Given the description of an element on the screen output the (x, y) to click on. 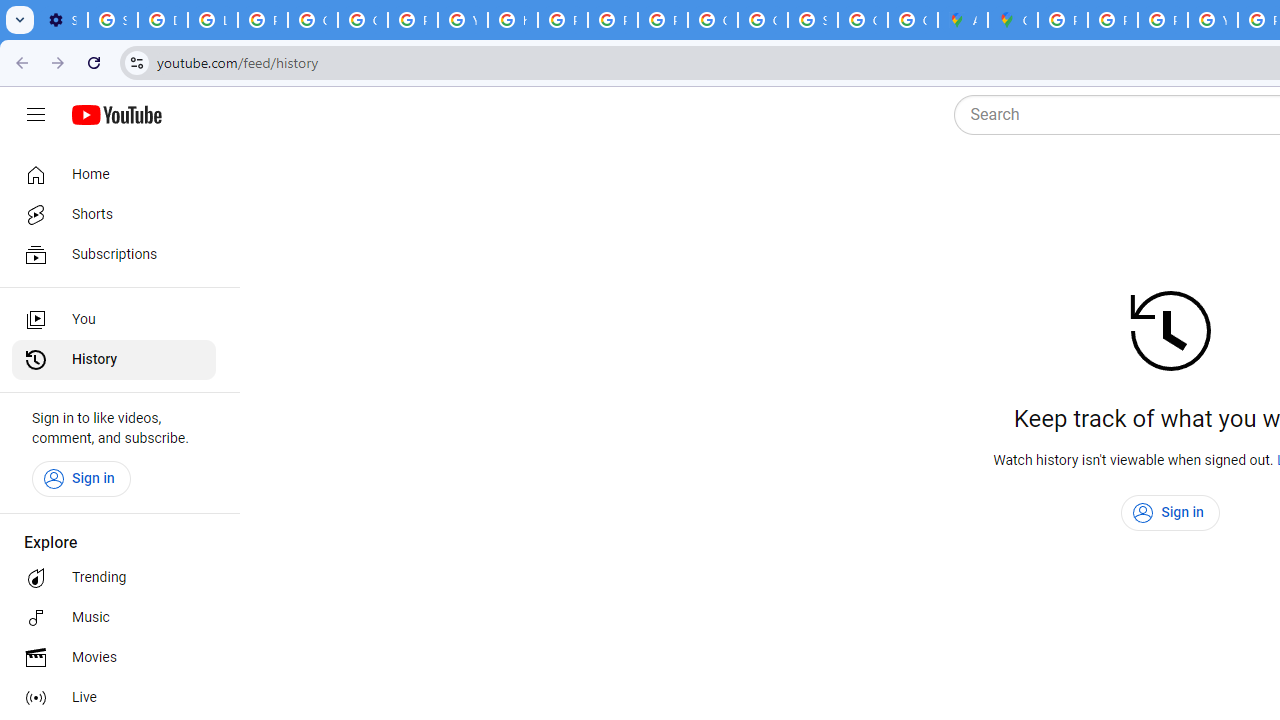
YouTube (462, 20)
YouTube (1212, 20)
Create your Google Account (913, 20)
YouTube Home (116, 115)
Privacy Help Center - Policies Help (1162, 20)
History (113, 359)
